Given the description of an element on the screen output the (x, y) to click on. 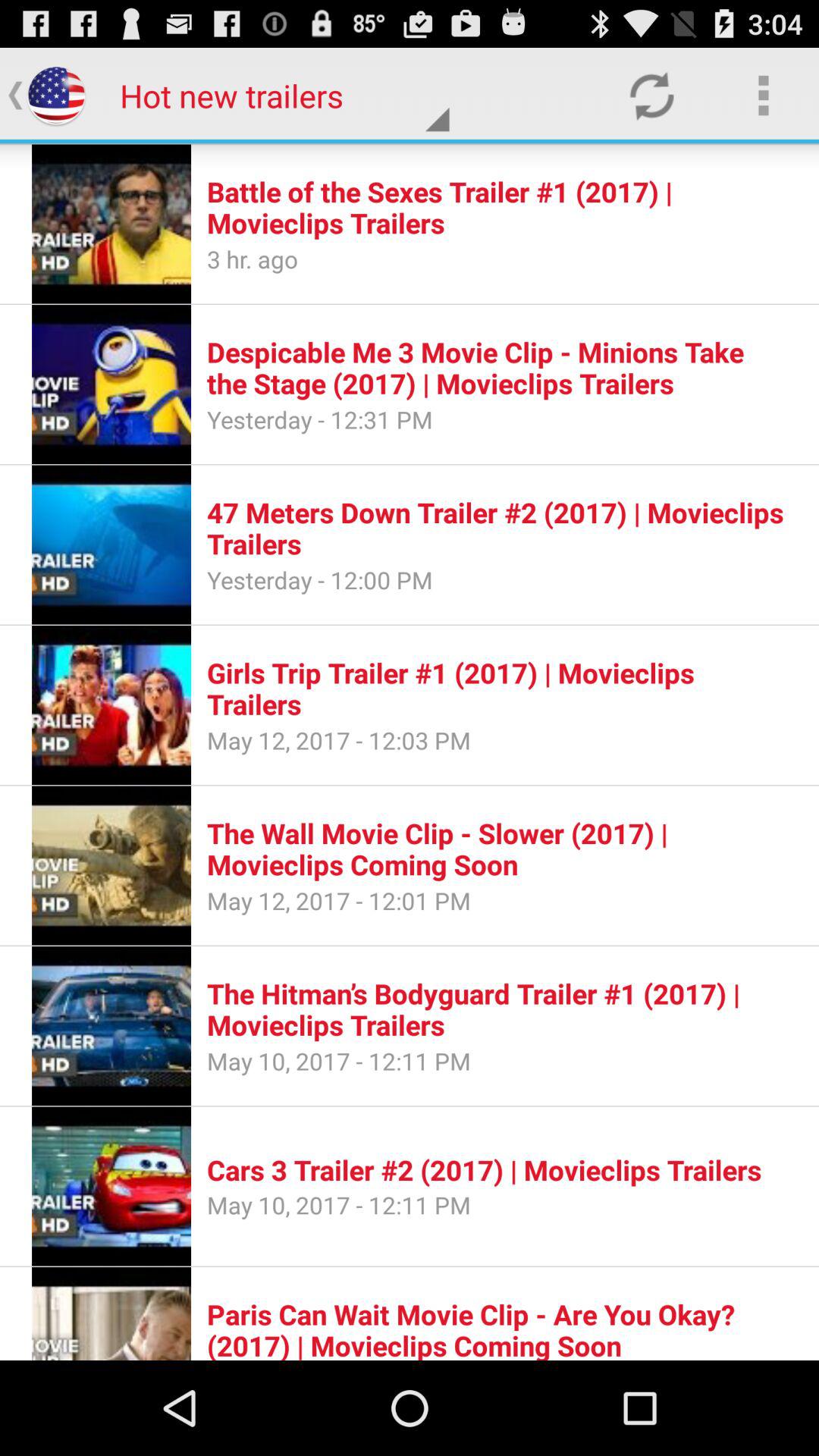
launch the item next to hot new trailers icon (651, 95)
